Given the description of an element on the screen output the (x, y) to click on. 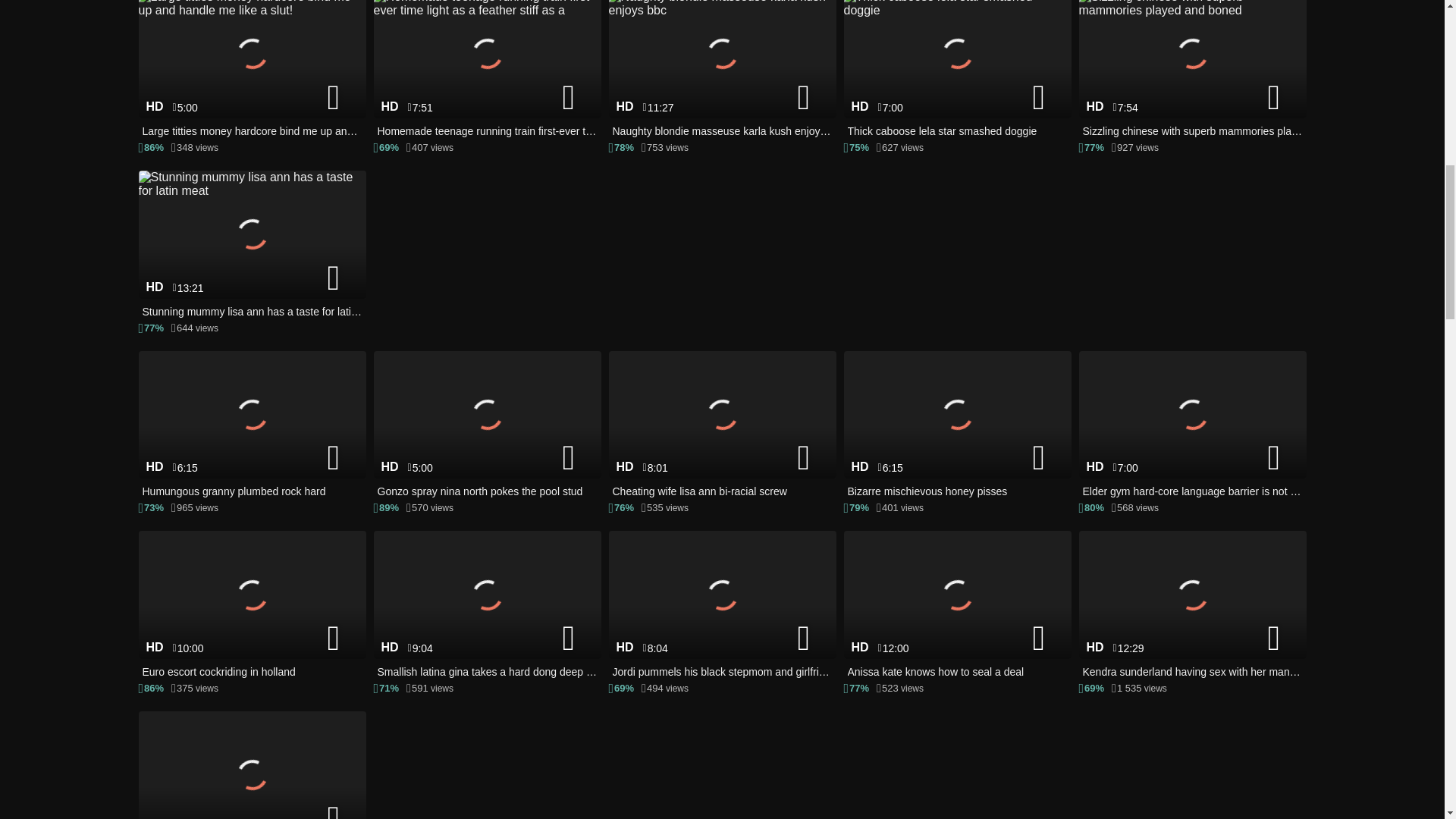
Naughty blondie masseuse karla kush enjoys bbc (721, 70)
Sizzling chinese with superb mammories played and boned (1192, 70)
Gonzo spray nina north pokes the pool stud (485, 425)
Thick caboose lela star smashed doggie (956, 70)
Cheating wife lisa ann bi-racial screw (721, 425)
Humungous granny plumbed rock hard (251, 425)
Stunning mummy lisa ann has a taste for latin meat (251, 245)
